Given the description of an element on the screen output the (x, y) to click on. 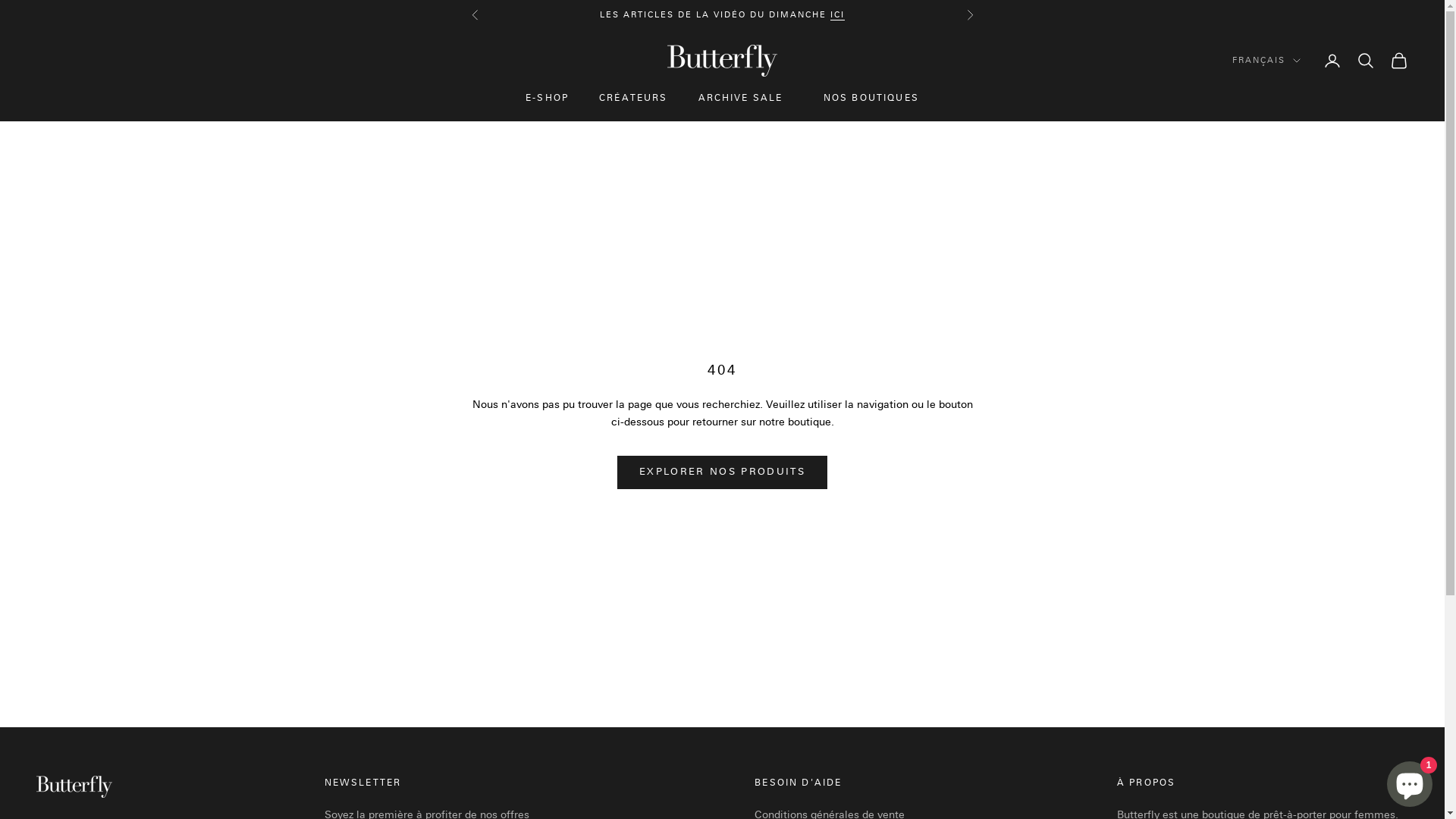
Chat de la boutique en ligne Shopify Element type: hover (1409, 780)
NOS BOUTIQUES Element type: text (871, 98)
EXPLORER NOS PRODUITS Element type: text (722, 472)
Ouvrir la recherche Element type: text (1365, 60)
Butterfly Element type: text (722, 60)
Suivant Element type: text (968, 14)
Voir le panier Element type: text (1399, 60)
Ouvrir le compte utilisation Element type: text (1332, 60)
